Given the description of an element on the screen output the (x, y) to click on. 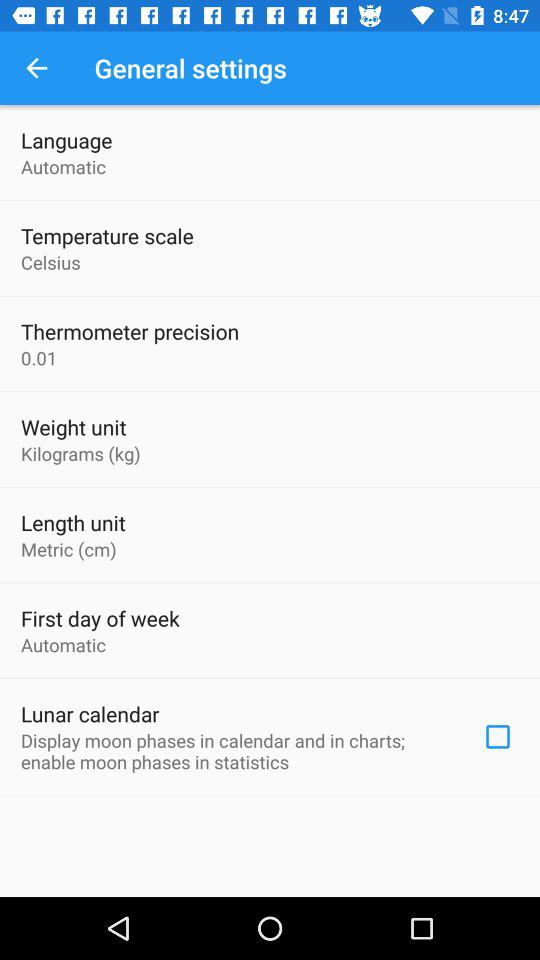
press the item above language (36, 68)
